Given the description of an element on the screen output the (x, y) to click on. 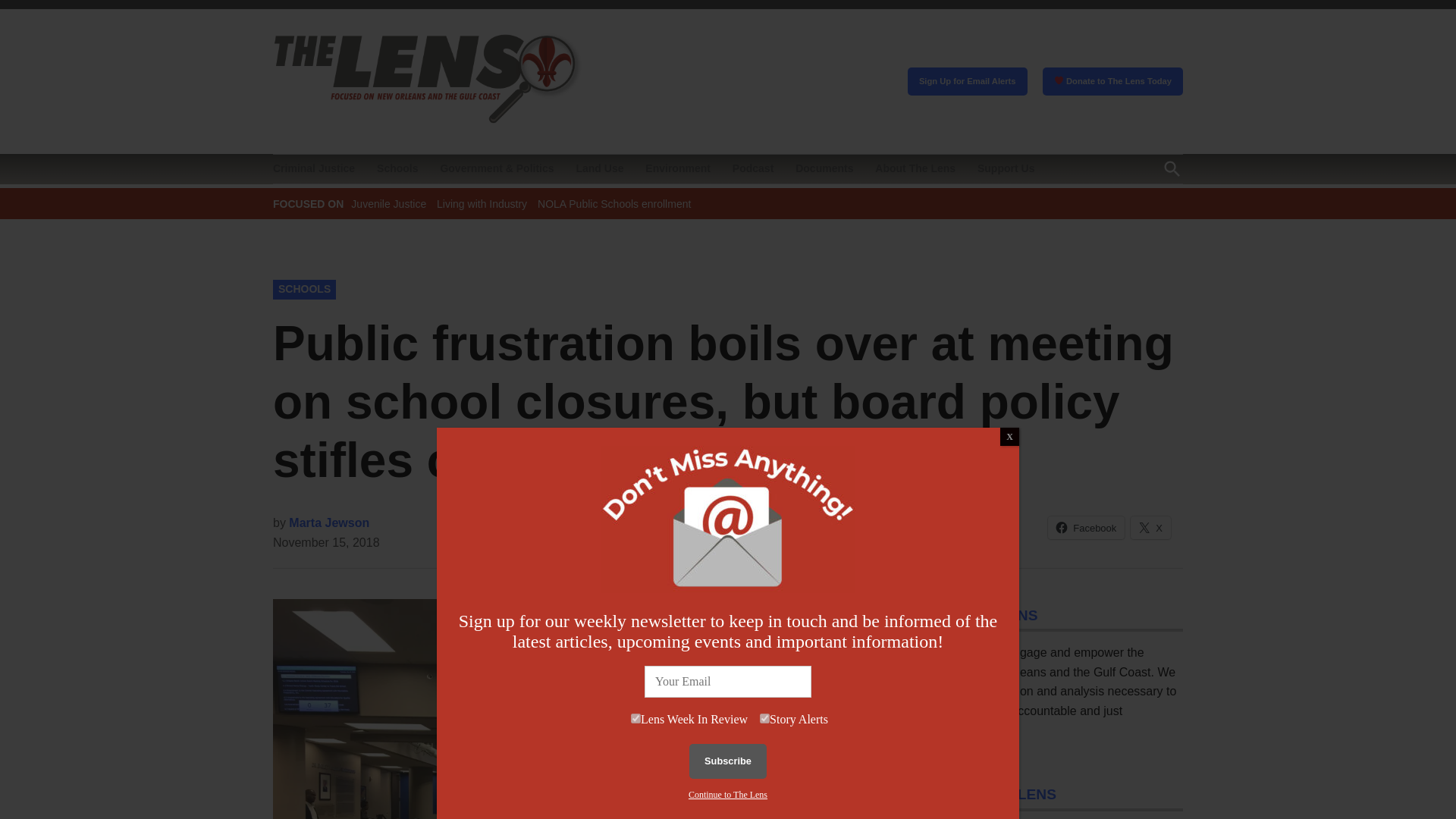
Living with Industry (481, 203)
Support Us (1005, 168)
NOLA Public Schools enrollment (613, 203)
Environment (677, 168)
Schools (397, 168)
Criminal Justice (317, 168)
SCHOOLS (304, 289)
Donate to The Lens Today (1112, 81)
Facebook (1086, 527)
X (1150, 527)
1 (635, 718)
Juvenile Justice (388, 203)
Podcast (752, 168)
1024 (765, 718)
Documents (823, 168)
